Given the description of an element on the screen output the (x, y) to click on. 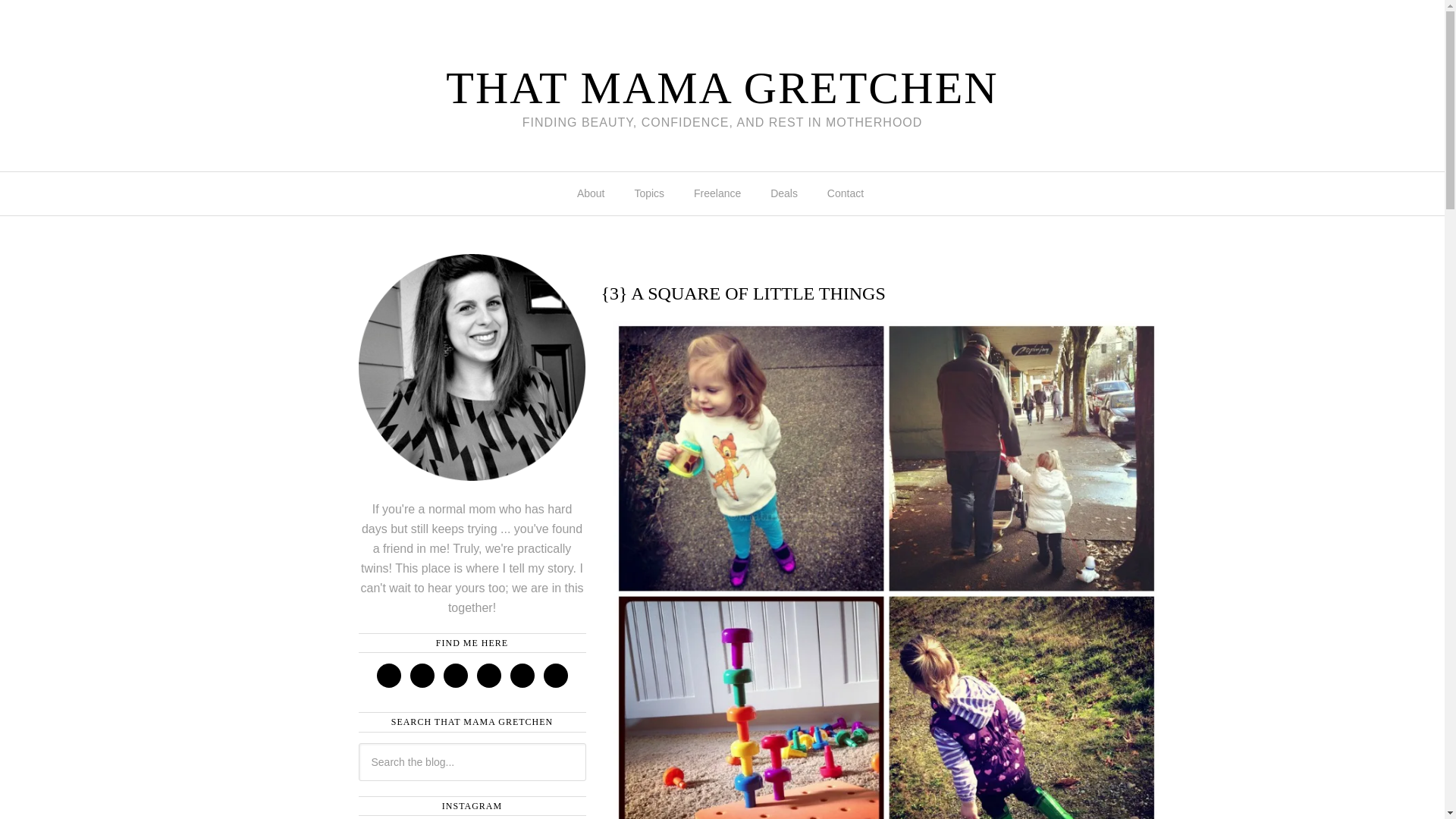
Freelance (718, 193)
THAT MAMA GRETCHEN (721, 88)
Deals (785, 193)
Topics (651, 193)
Contact (847, 193)
About (593, 193)
